Given the description of an element on the screen output the (x, y) to click on. 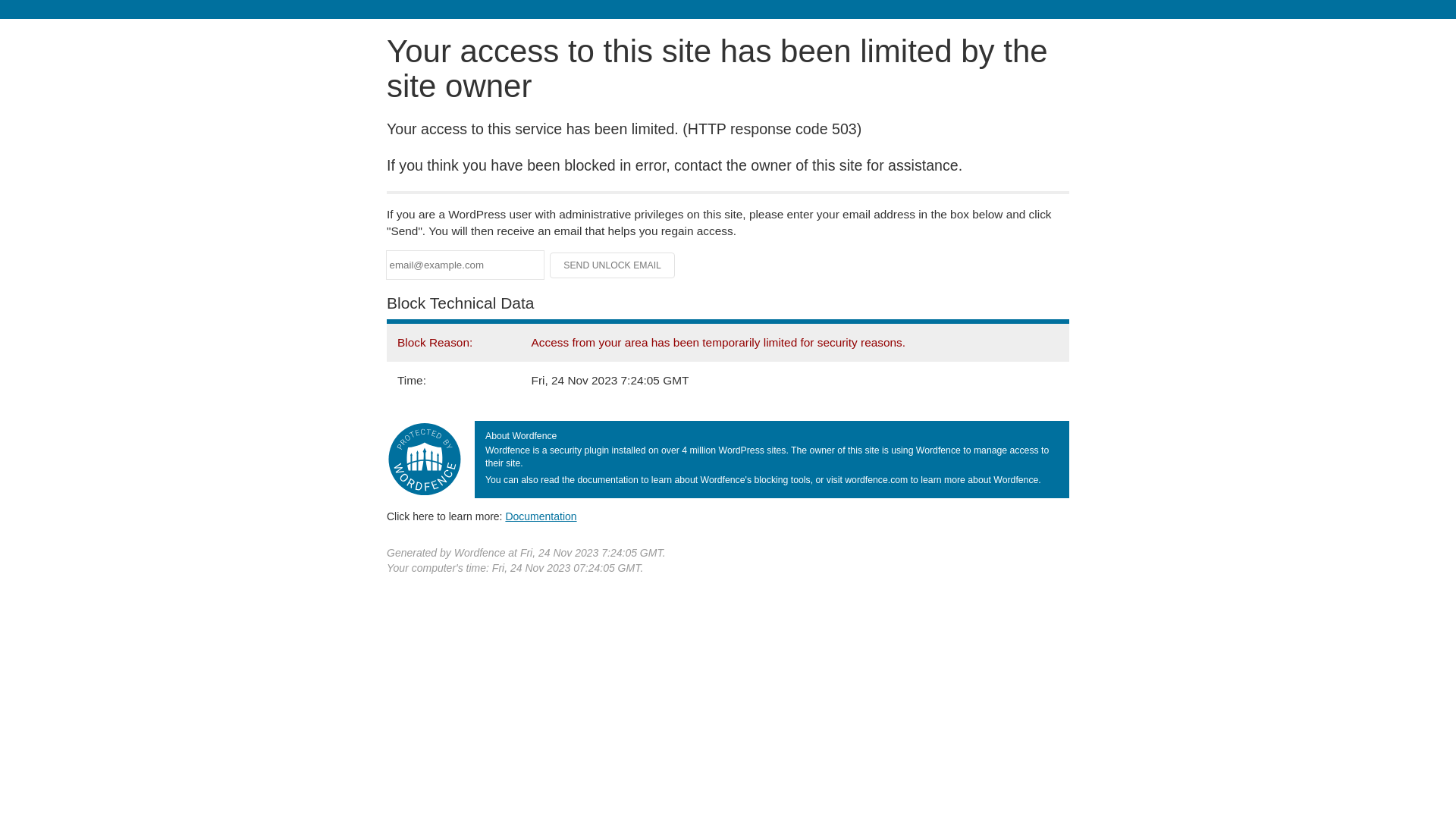
Send Unlock Email Element type: text (612, 265)
Documentation Element type: text (540, 516)
